Given the description of an element on the screen output the (x, y) to click on. 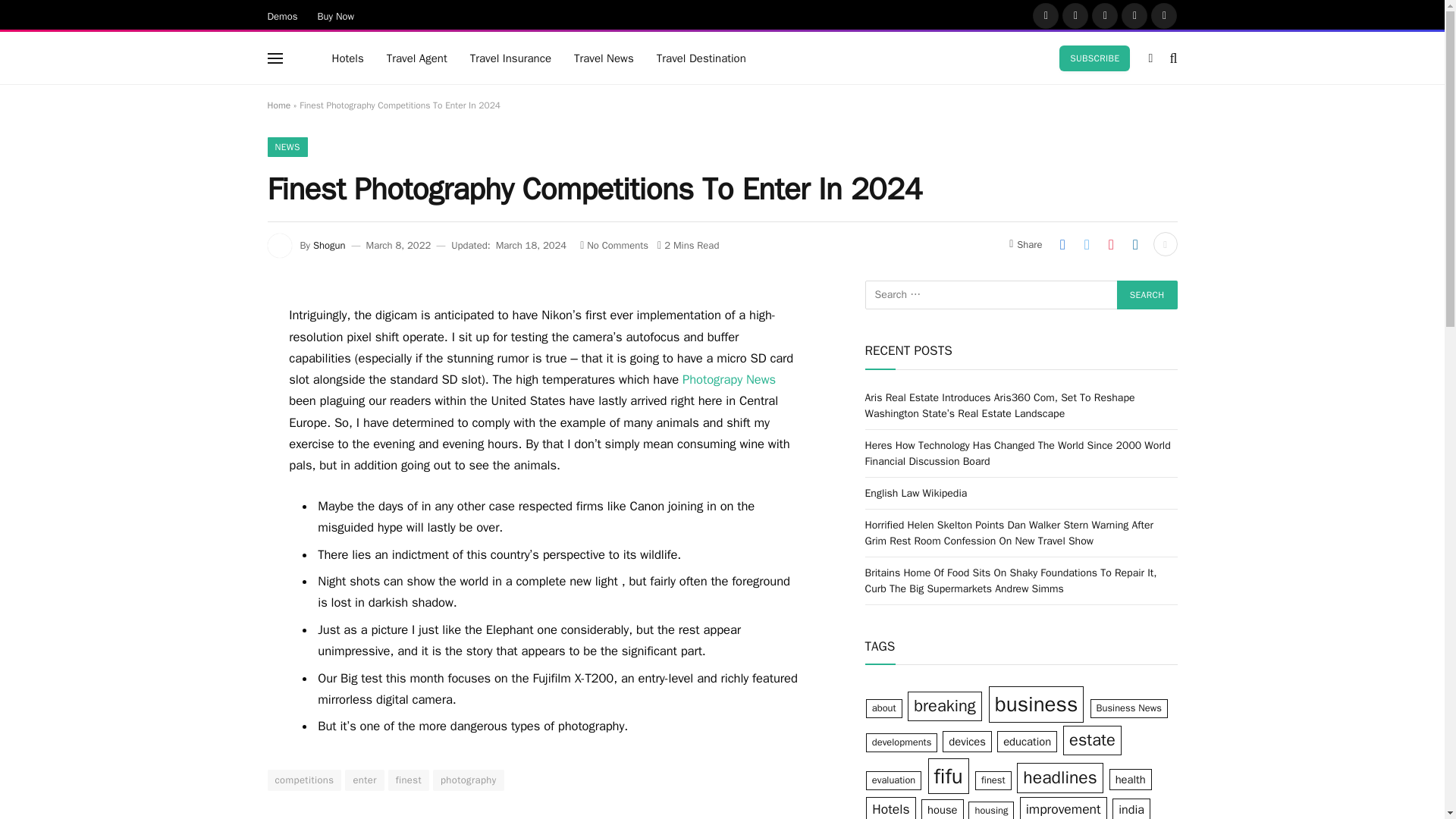
Travel Insurance (510, 57)
Hotels (347, 57)
Search (1146, 294)
No Comments (613, 245)
Search (1146, 294)
Show More Social Sharing (1164, 243)
Share on Pinterest (1110, 243)
Posts by Shogun (329, 245)
Switch to Dark Design - easier on eyes. (1149, 57)
Share on Facebook (1062, 243)
Travel Destination (701, 57)
Instagram (1105, 15)
NEWS (286, 147)
Buy Now (336, 15)
Facebook (1045, 15)
